Given the description of an element on the screen output the (x, y) to click on. 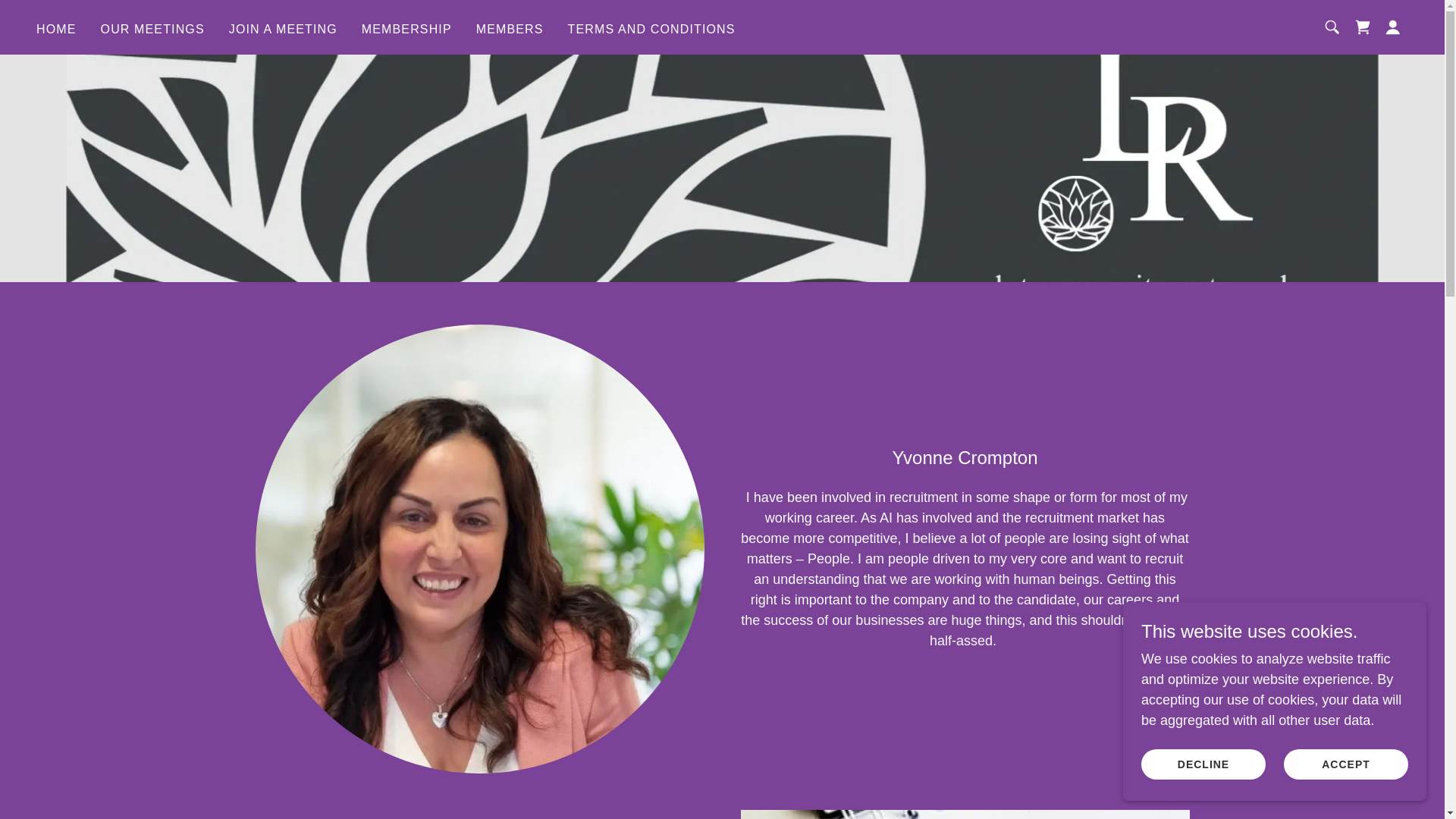
JOIN A MEETING (283, 28)
MEMBERSHIP (406, 28)
HOME (56, 28)
TERMS AND CONDITIONS (651, 28)
OUR MEETINGS (152, 28)
MEMBERS (509, 28)
